Given the description of an element on the screen output the (x, y) to click on. 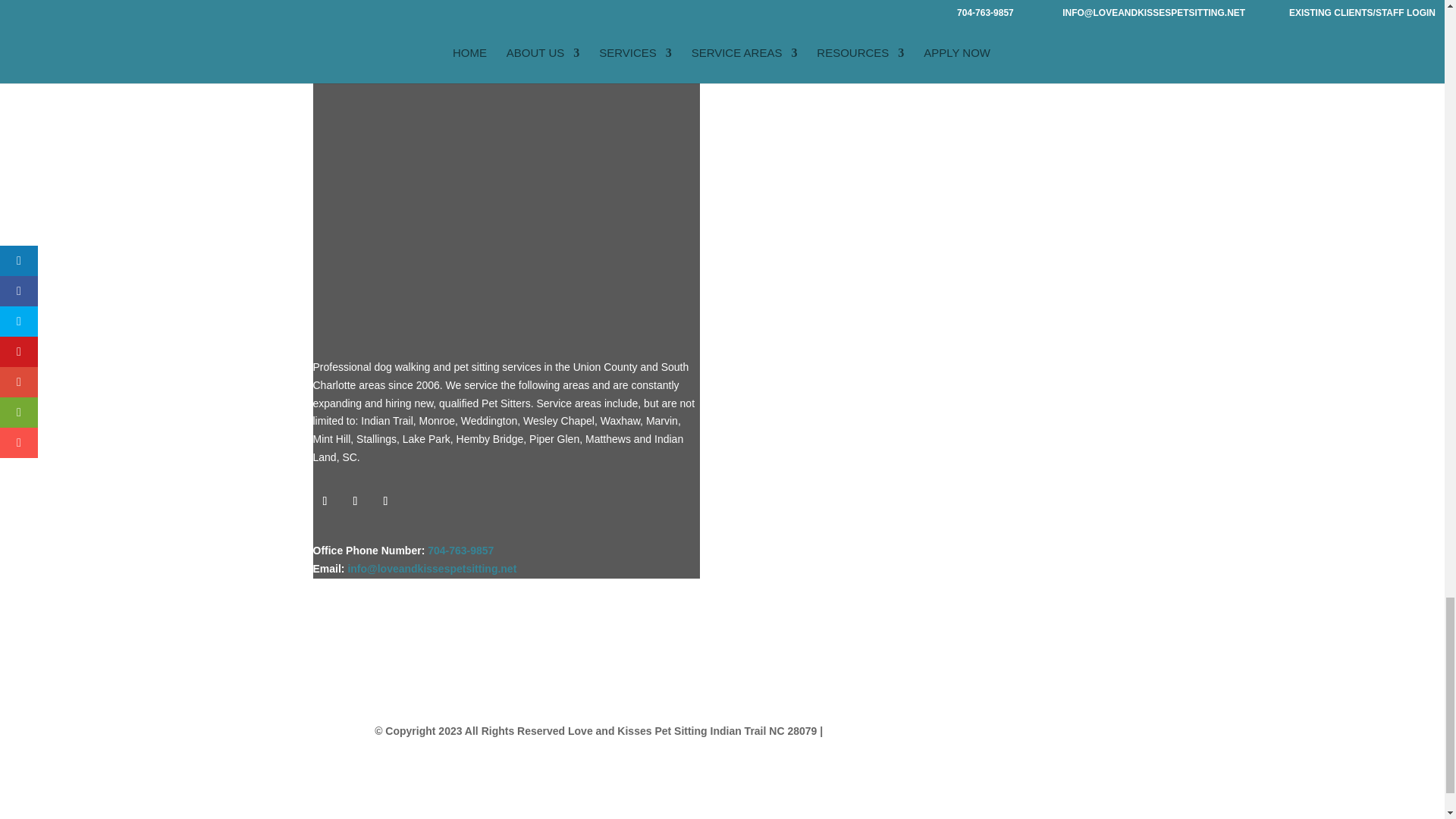
Follow on Facebook (324, 500)
Love and Kisses Pet Sitting Logo Black (502, 167)
Follow on Instagram (354, 500)
Follow on Youtube (384, 500)
